Given the description of an element on the screen output the (x, y) to click on. 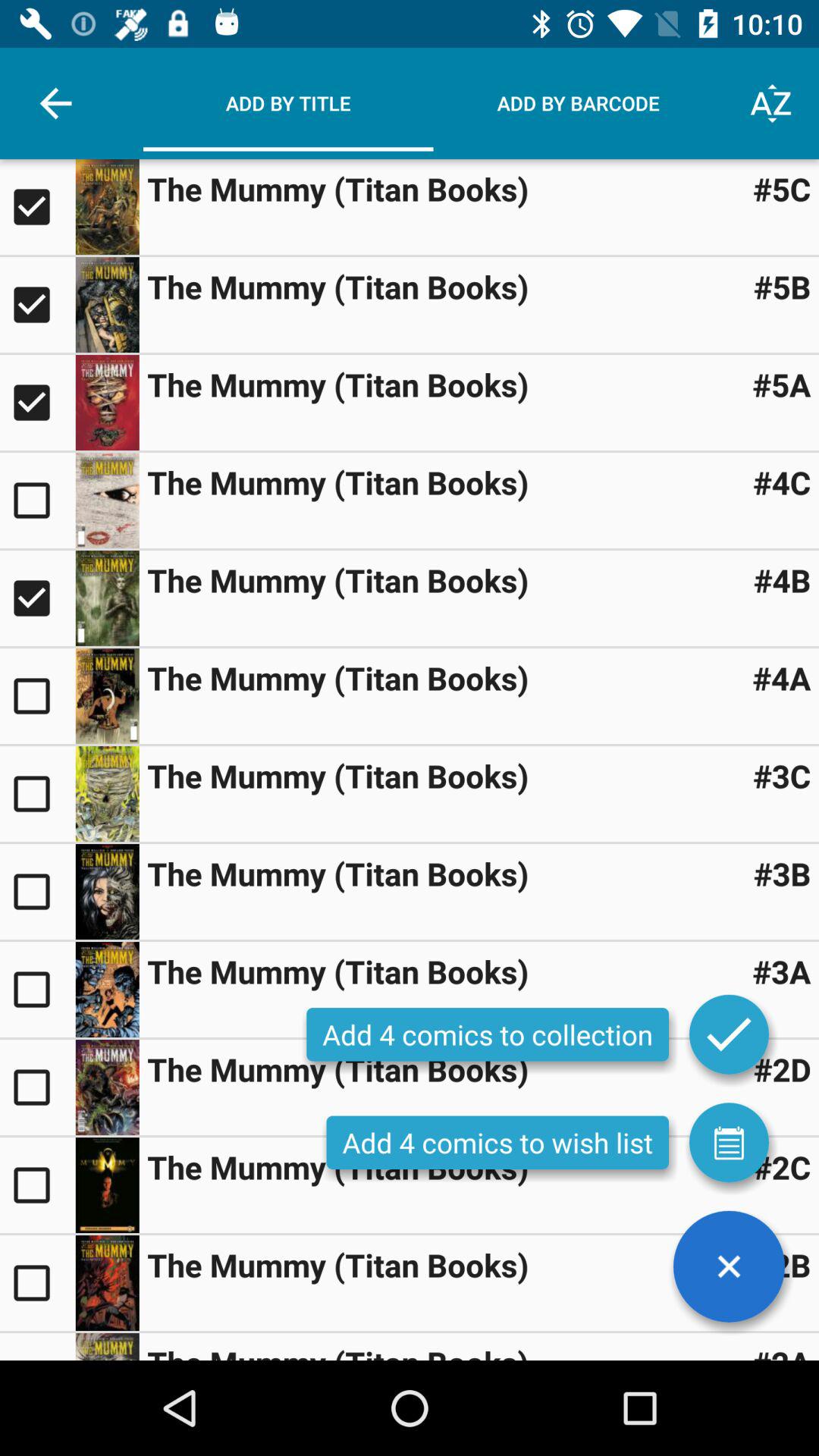
add selected items (729, 1034)
